Given the description of an element on the screen output the (x, y) to click on. 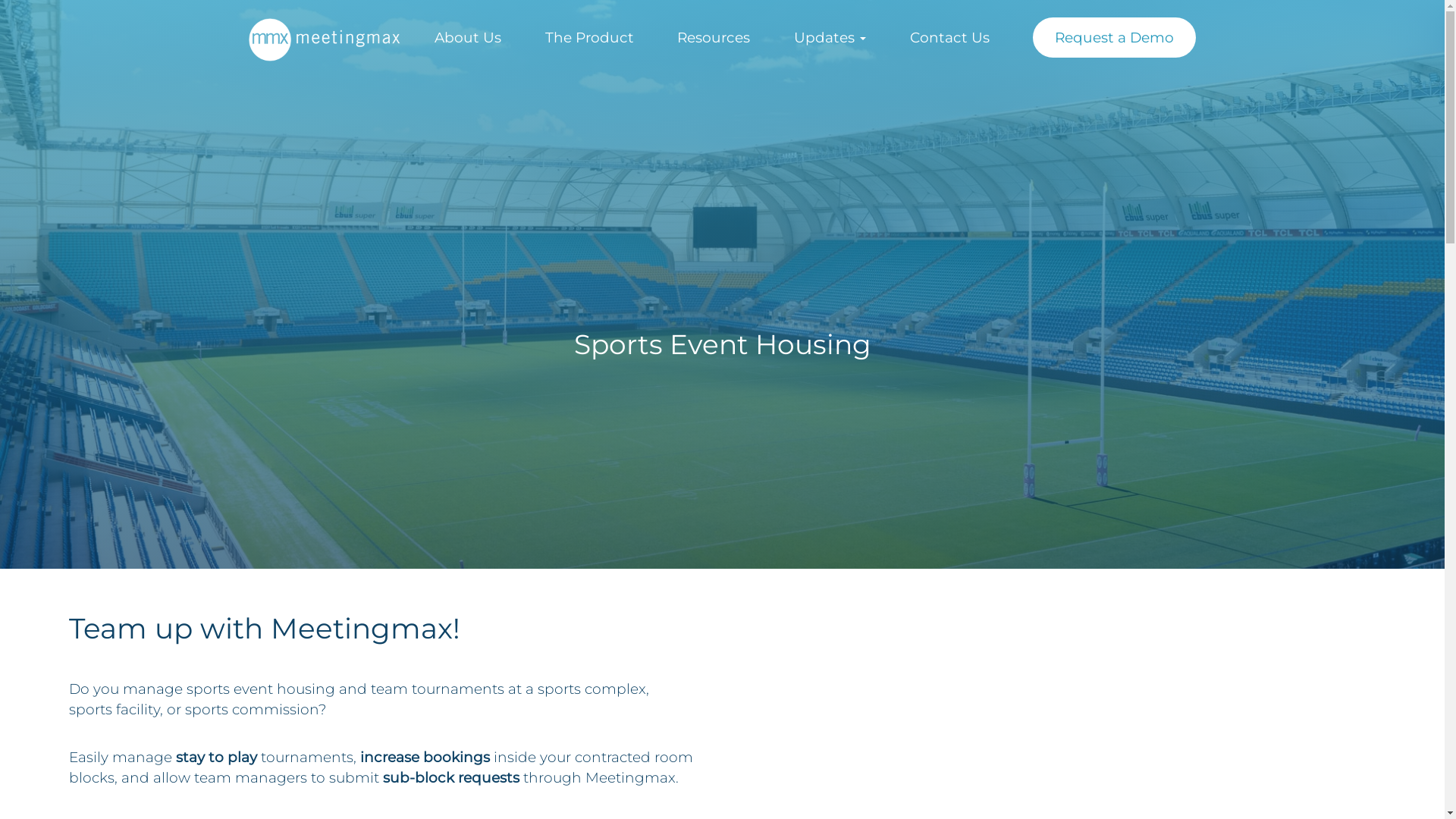
Contact Us Element type: text (949, 37)
Request a Demo Element type: text (1113, 37)
The Product Element type: text (589, 37)
Updates Element type: text (829, 37)
Resources Element type: text (713, 37)
About Us Element type: text (467, 37)
